Given the description of an element on the screen output the (x, y) to click on. 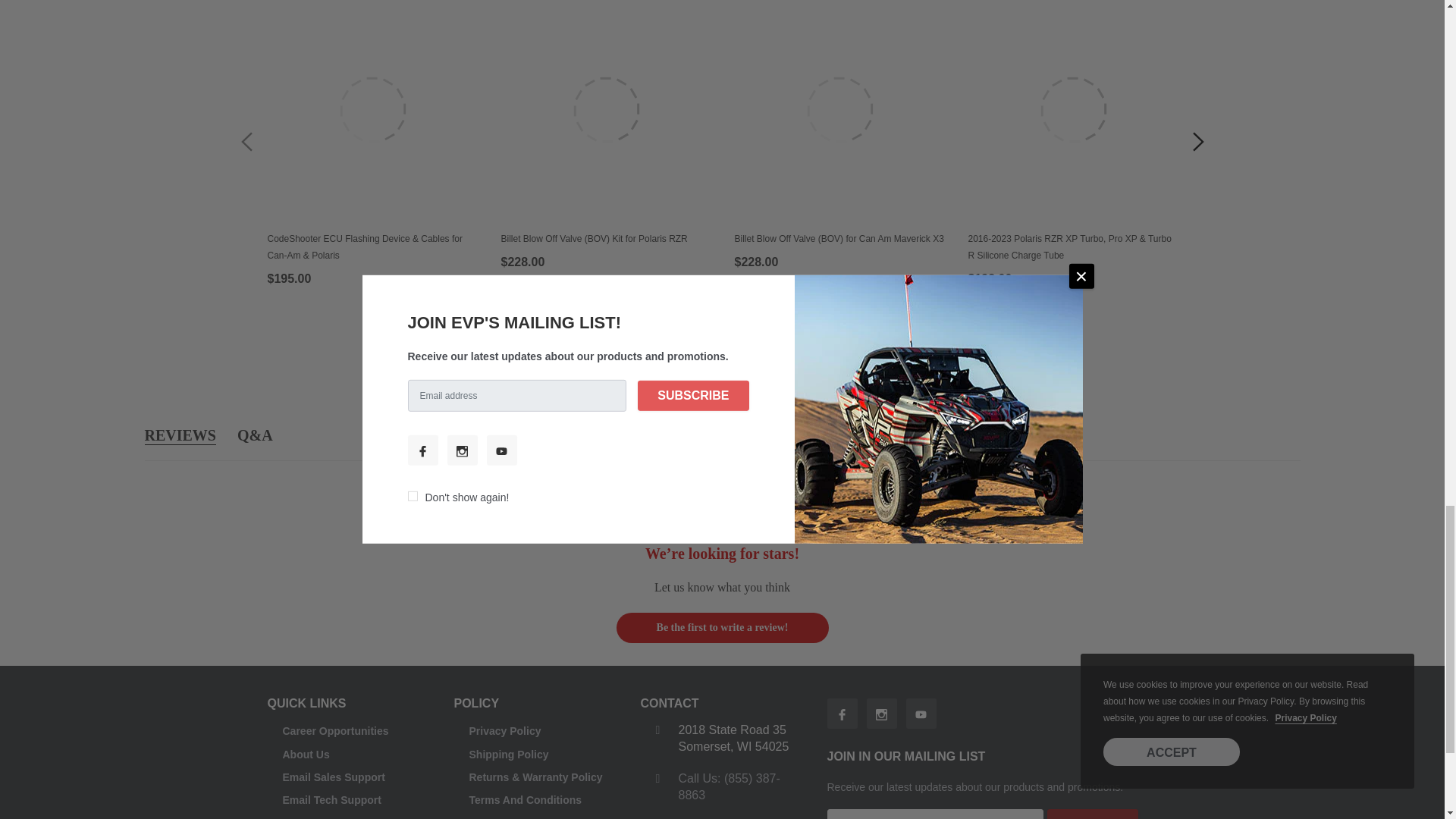
YouTube (920, 713)
Subscribe (1091, 814)
Instagram (881, 713)
Facebook (842, 713)
